Given the description of an element on the screen output the (x, y) to click on. 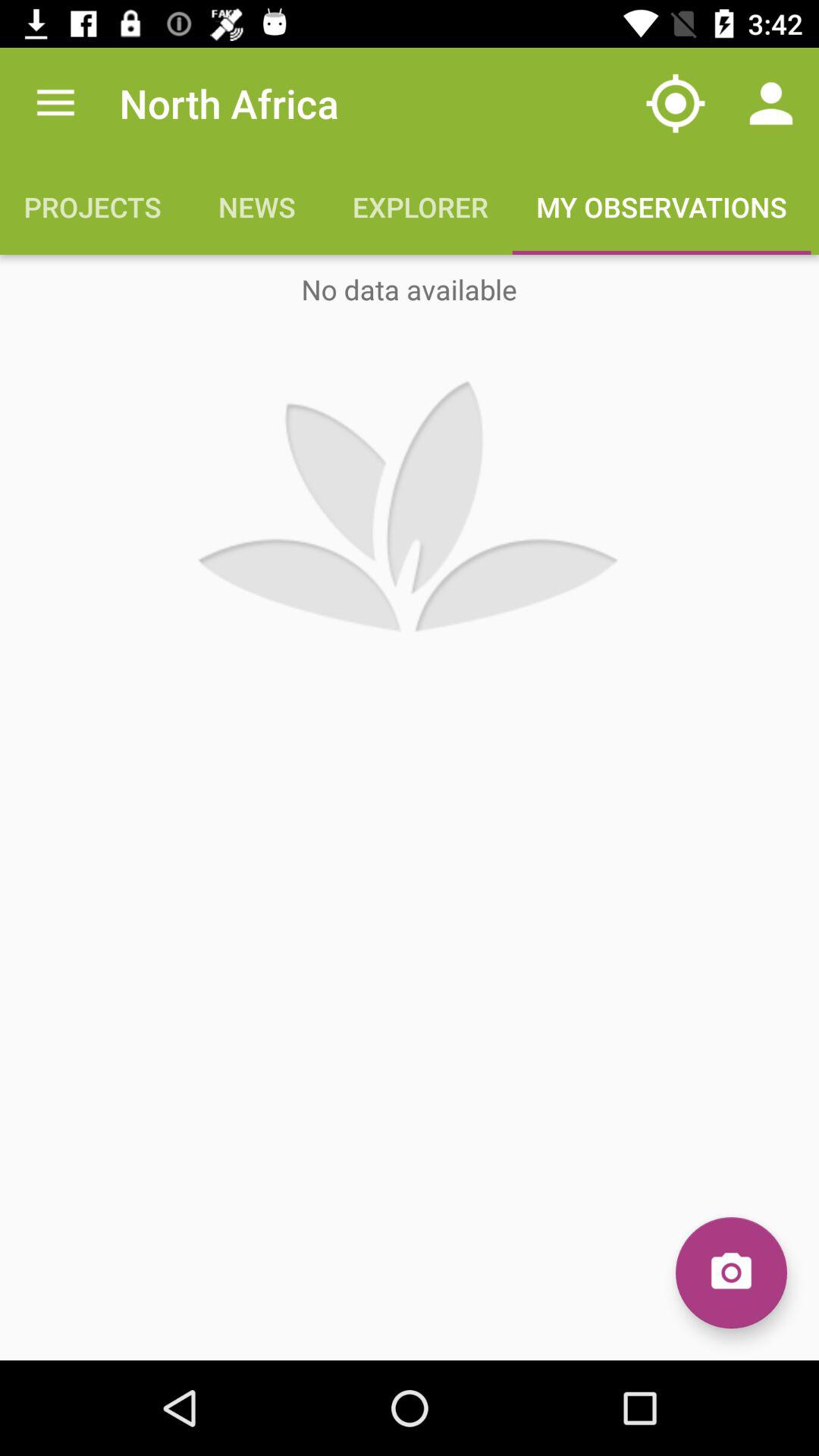
launch the icon above my observations icon (675, 103)
